Given the description of an element on the screen output the (x, y) to click on. 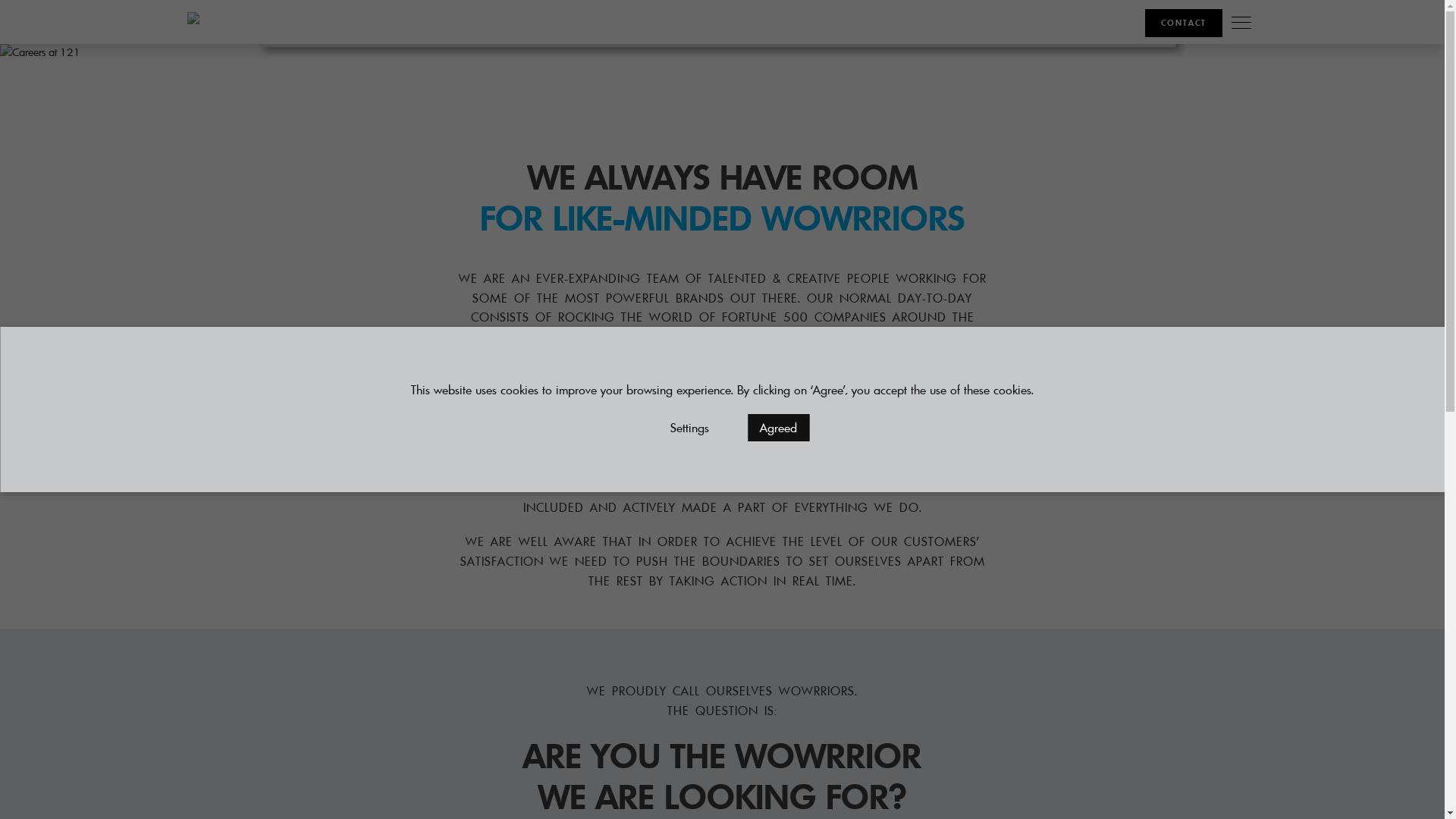
CONTACT Element type: text (1183, 23)
Settings Element type: text (689, 427)
Agreed Element type: text (778, 427)
